Given the description of an element on the screen output the (x, y) to click on. 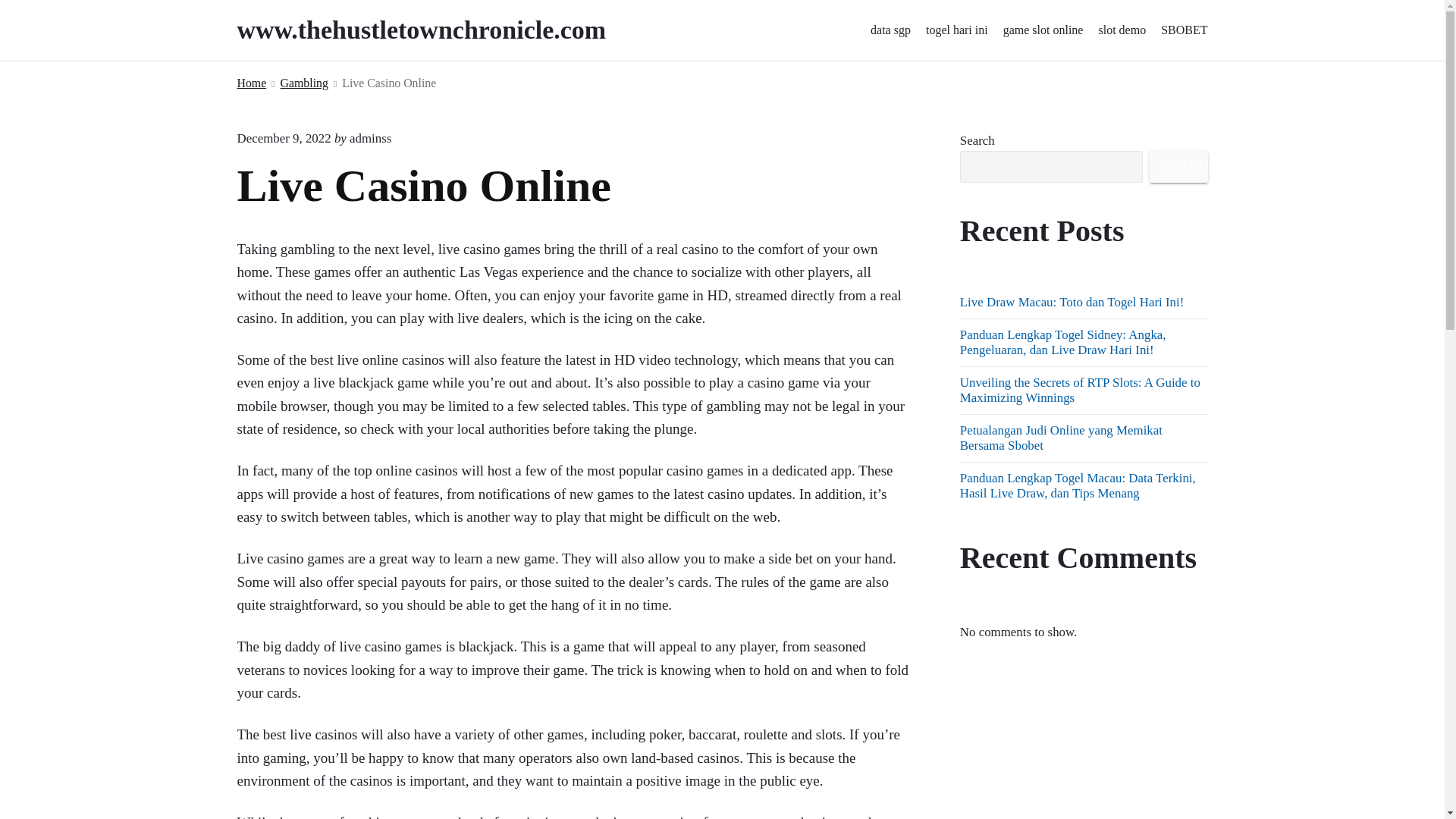
Home (250, 82)
Posts by adminss (370, 138)
adminss (370, 138)
togel hari ini (957, 30)
data sgp (890, 30)
Live Draw Macau: Toto dan Togel Hari Ini! (1072, 301)
game slot online (1043, 30)
SEARCH (1178, 166)
slot demo (1121, 30)
